Given the description of an element on the screen output the (x, y) to click on. 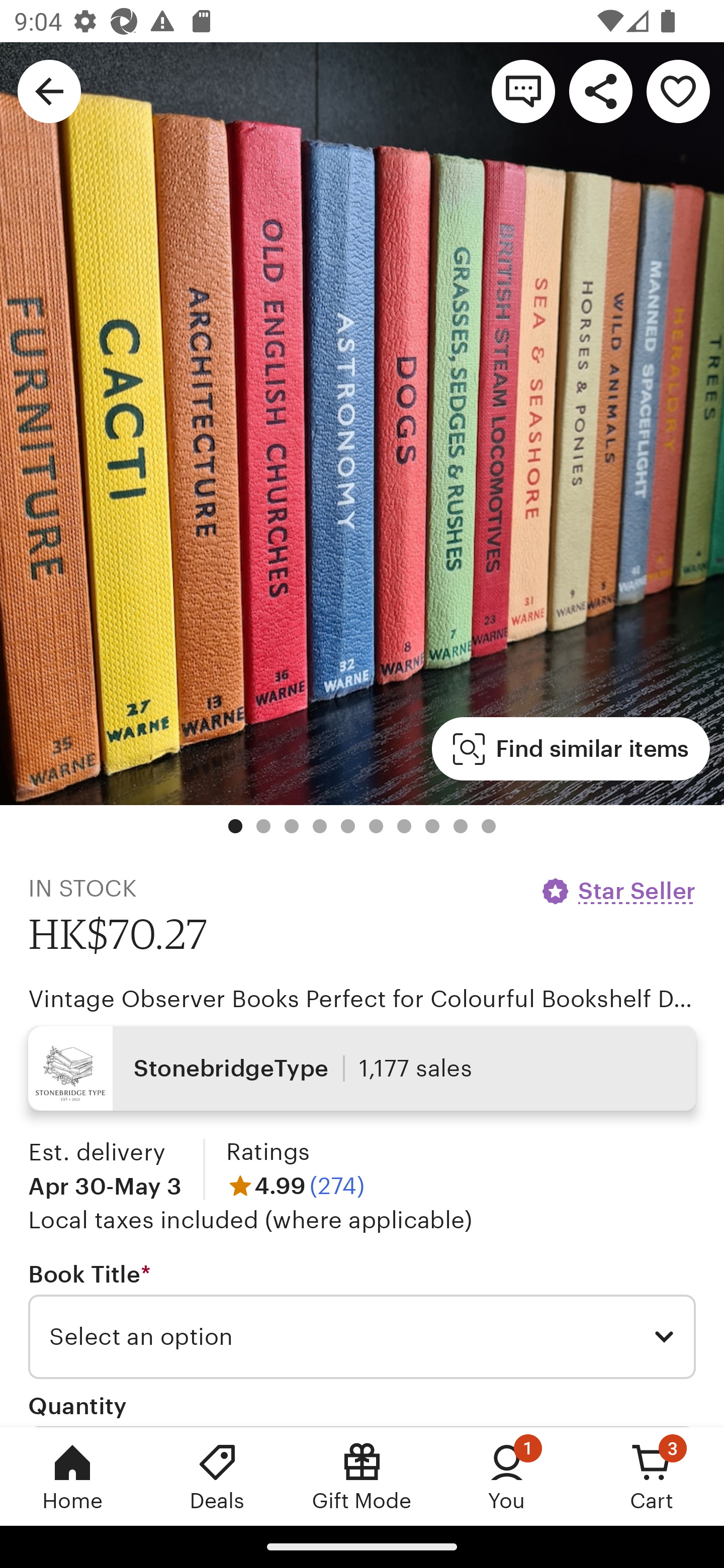
Navigate up (49, 90)
Contact shop (523, 90)
Share (600, 90)
Find similar items (571, 748)
Star Seller (617, 890)
StonebridgeType 1,177 sales (361, 1067)
Ratings (267, 1151)
4.99 (274) (294, 1185)
Book Title * Required Select an option (361, 1319)
Select an option (361, 1336)
Quantity (77, 1405)
Deals (216, 1475)
Gift Mode (361, 1475)
You, 1 new notification You (506, 1475)
Cart, 3 new notifications Cart (651, 1475)
